Given the description of an element on the screen output the (x, y) to click on. 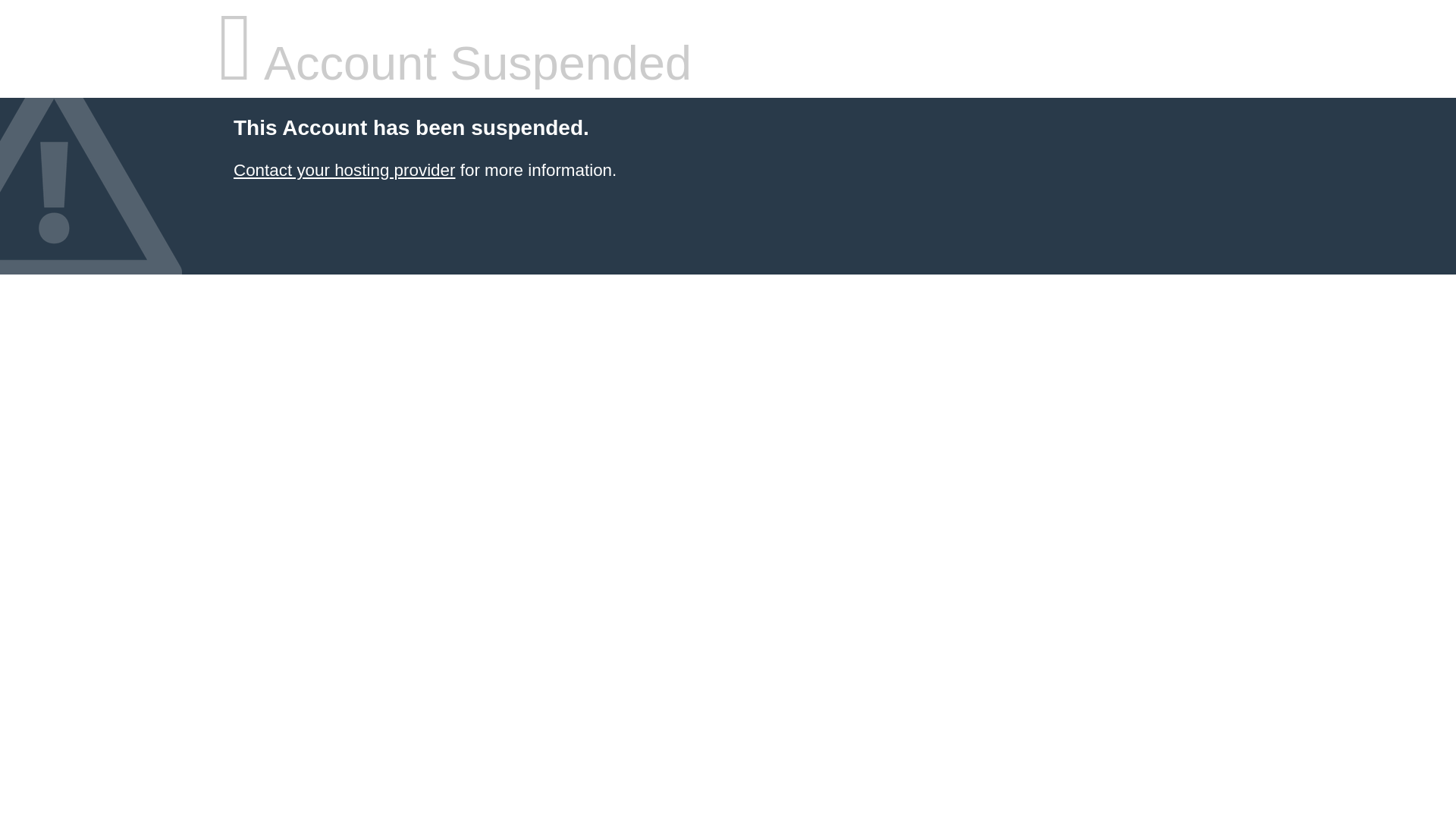
Contact your hosting provider (343, 169)
